Given the description of an element on the screen output the (x, y) to click on. 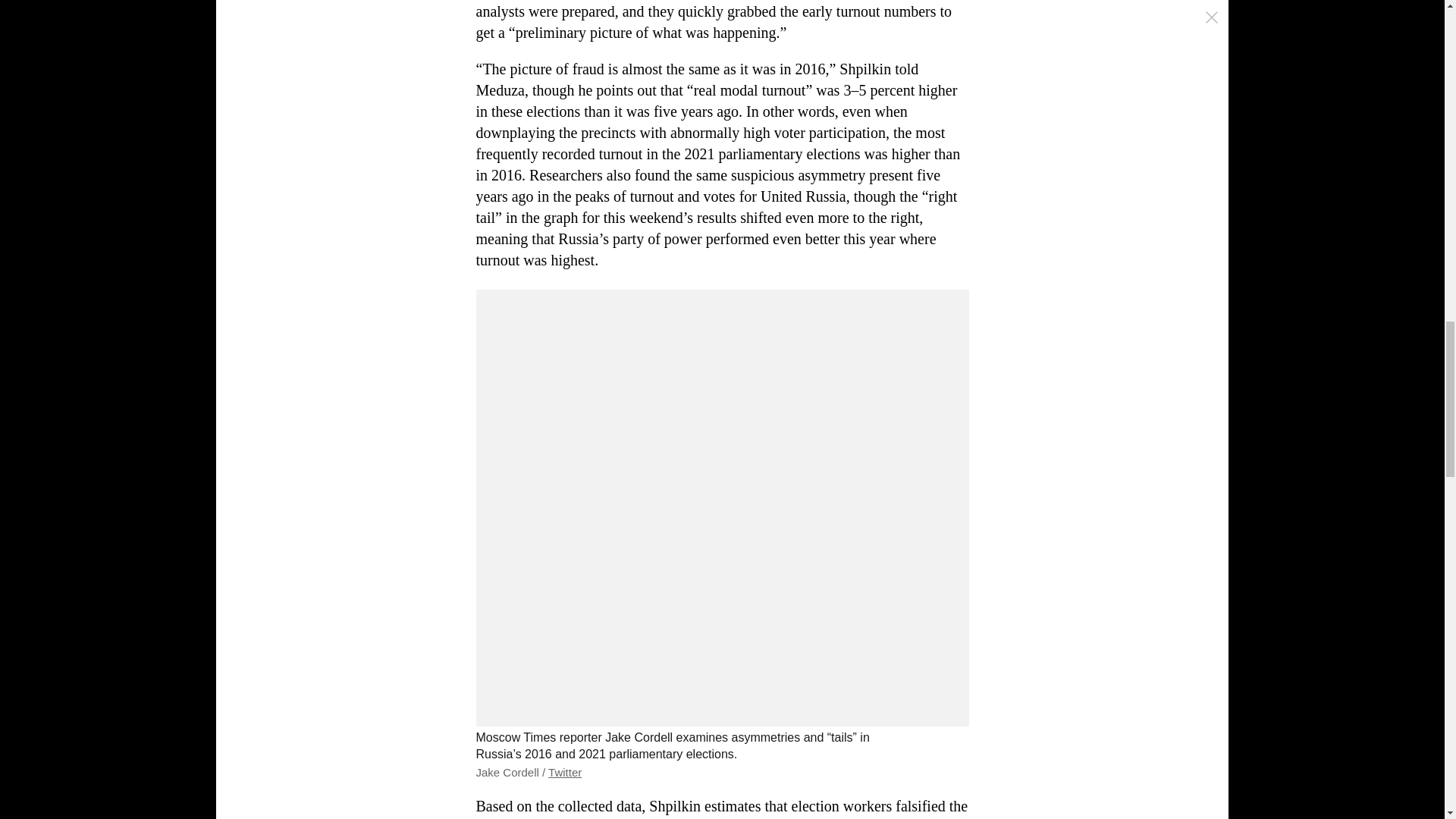
Twitter (564, 771)
